Given the description of an element on the screen output the (x, y) to click on. 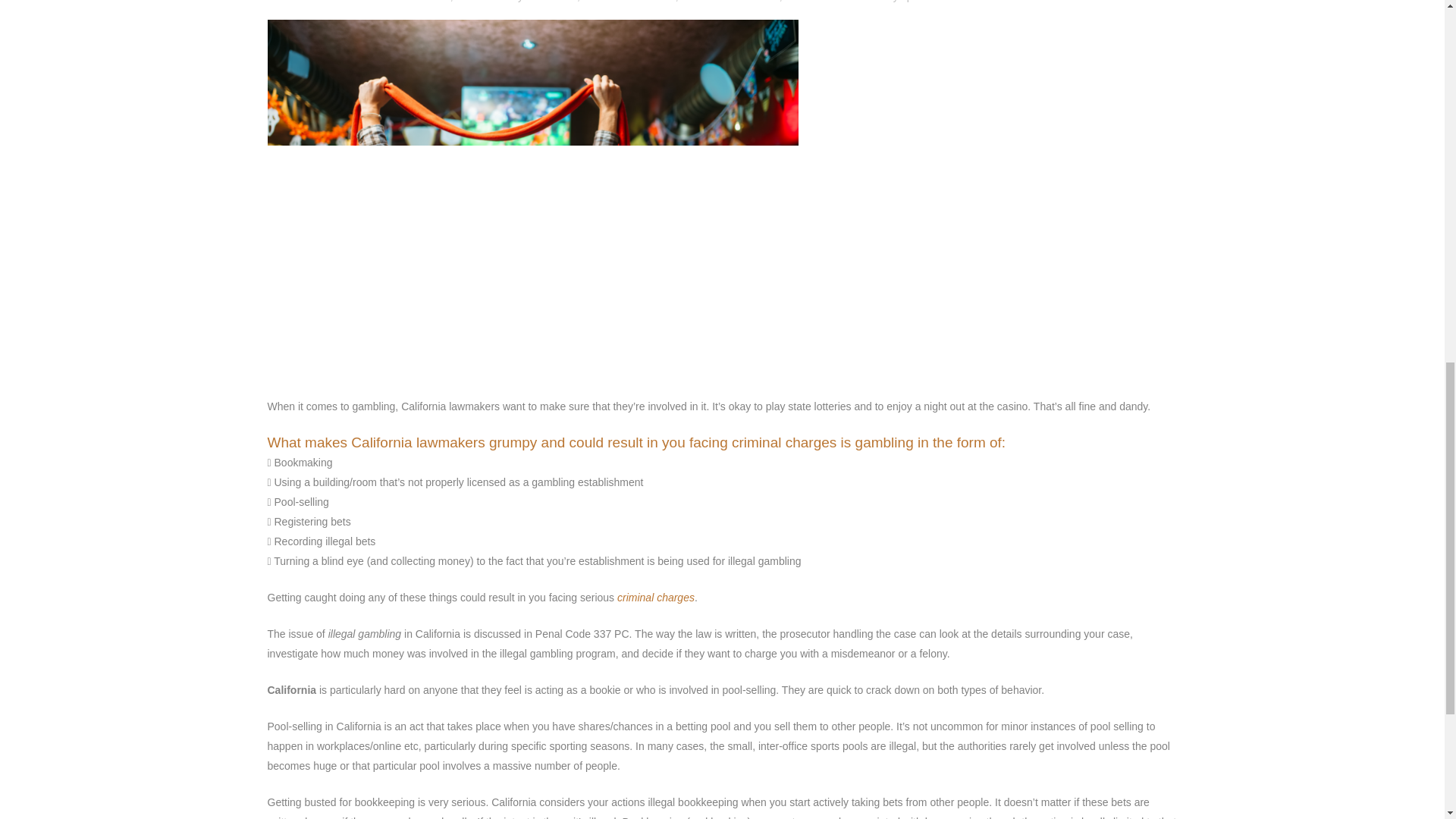
0 Comments (995, 1)
Murrieta Bail Bonds (629, 1)
Corona Bail Bonds (405, 1)
criminal charges (655, 597)
spiralmode (927, 1)
Moreno Valley Bail Bonds (516, 1)
0 Likes (1057, 0)
Temecula Bail Bonds (833, 1)
Like this (1057, 0)
Criminal Contempt of Court (655, 597)
